Given the description of an element on the screen output the (x, y) to click on. 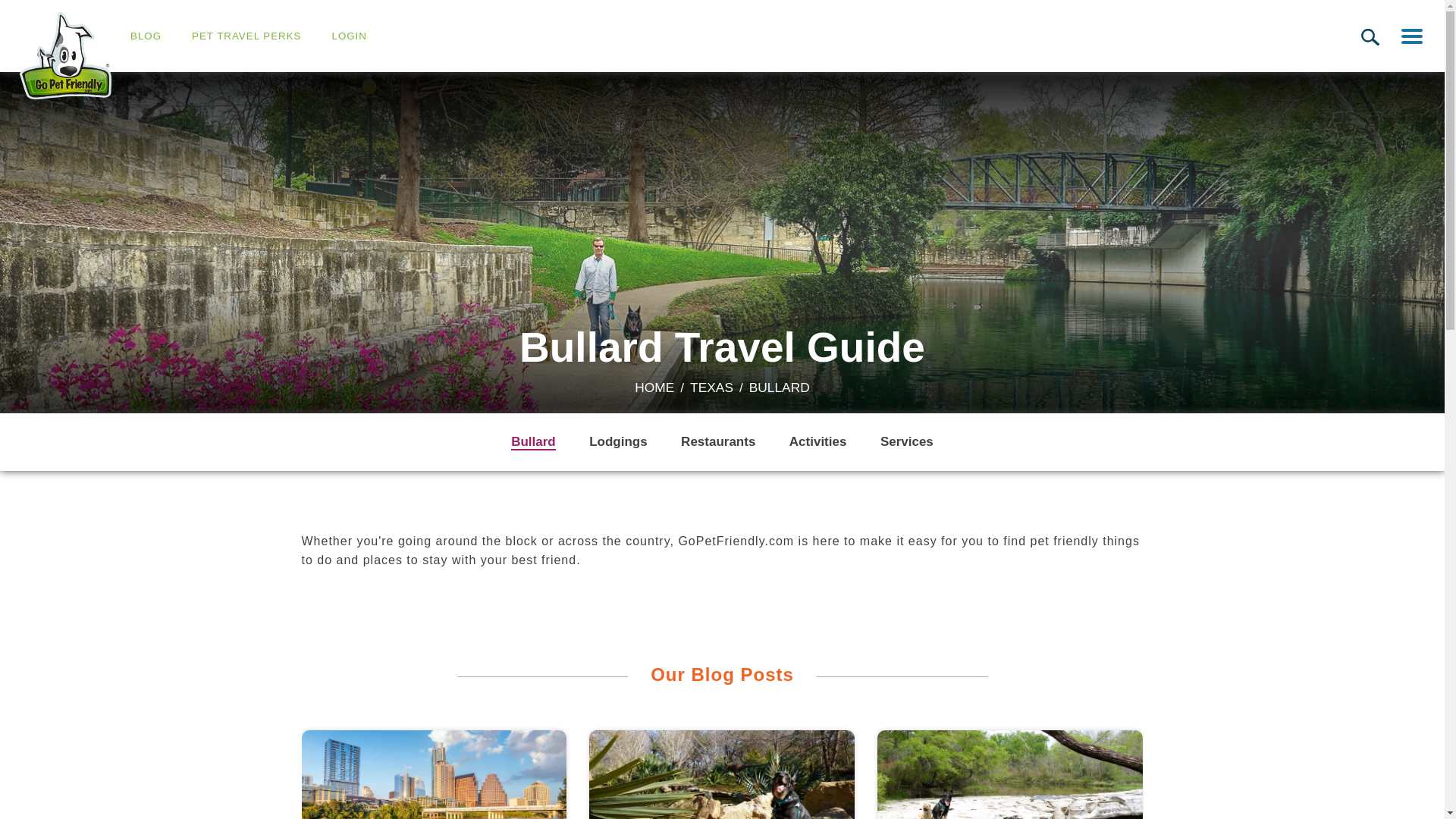
TEXAS (711, 387)
GoPetFriendly - Do More Together (66, 55)
LOGIN (348, 35)
HOME (654, 387)
Restaurants (718, 441)
PET TRAVEL PERKS (246, 35)
Top Dog Friendly Things To Do In Austin (434, 774)
Lodgings (617, 441)
Activities (818, 441)
Search (1369, 36)
Visiting McKinney Falls State Park: Austin, Texas (1009, 774)
BLOG (146, 35)
Dog Friendly: Zilker Botanical Garden in Austin (721, 774)
Services (906, 441)
Bullard (533, 442)
